Given the description of an element on the screen output the (x, y) to click on. 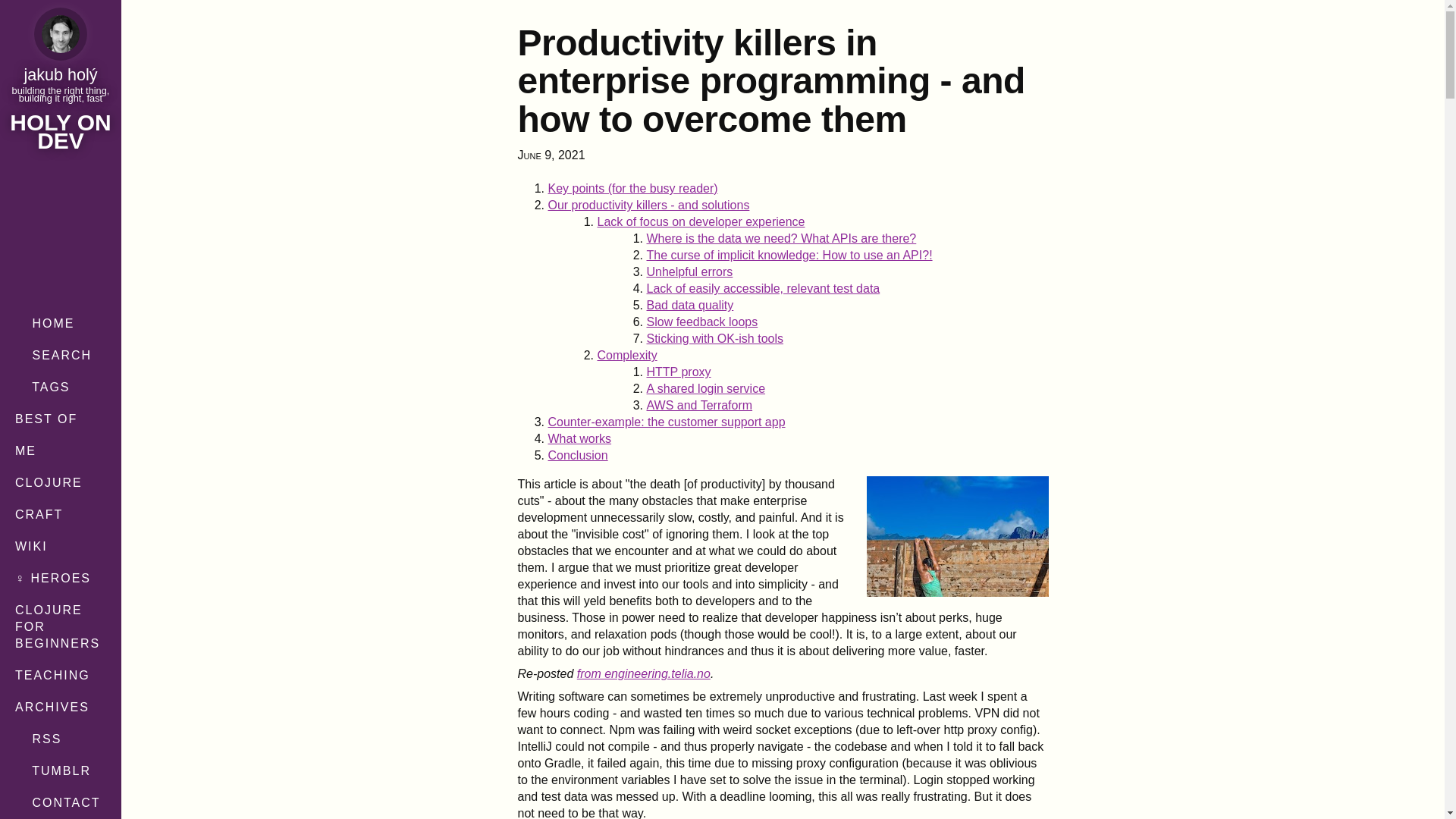
TUMBLR (60, 771)
from engineering.telia.no (643, 673)
WIKI (60, 546)
RSS (60, 739)
Sticking with OK-ish tools (714, 338)
Recommended links feed (60, 771)
RSS (60, 739)
CRAFT (60, 514)
TAGS (60, 387)
ME (60, 450)
